Given the description of an element on the screen output the (x, y) to click on. 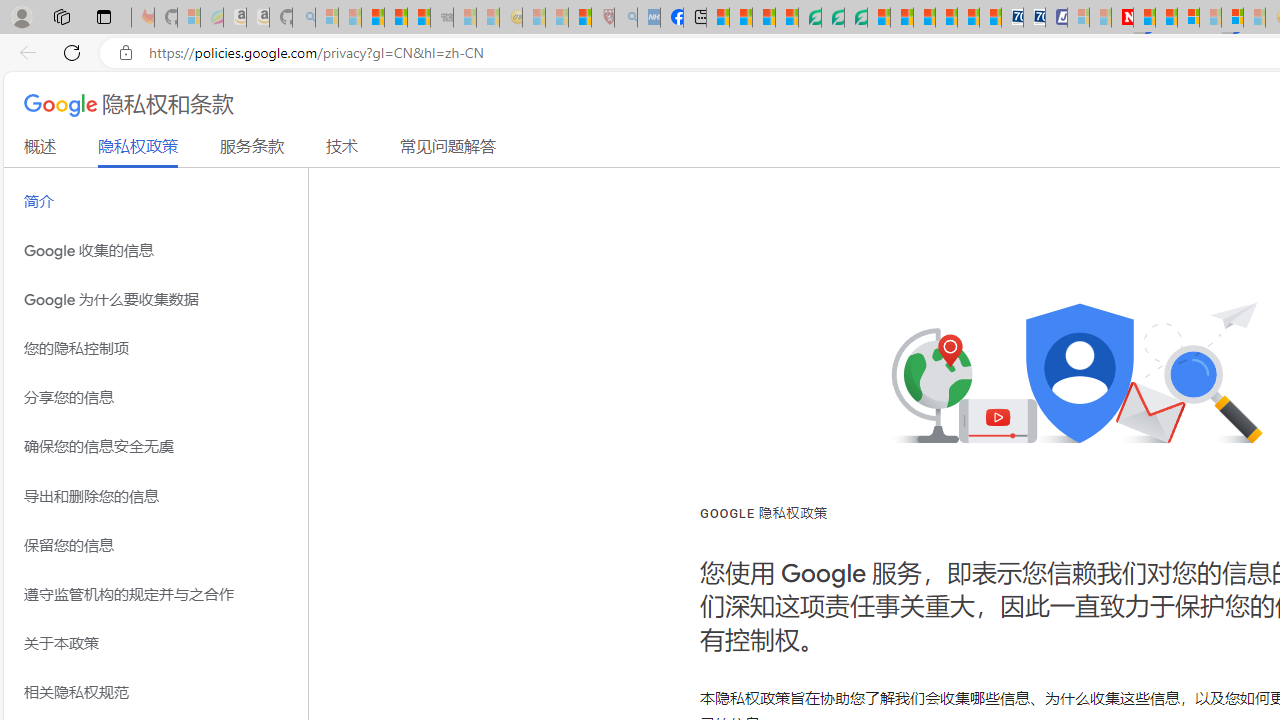
Cheap Hotels - Save70.com (1034, 17)
Terms of Use Agreement (832, 17)
